Given the description of an element on the screen output the (x, y) to click on. 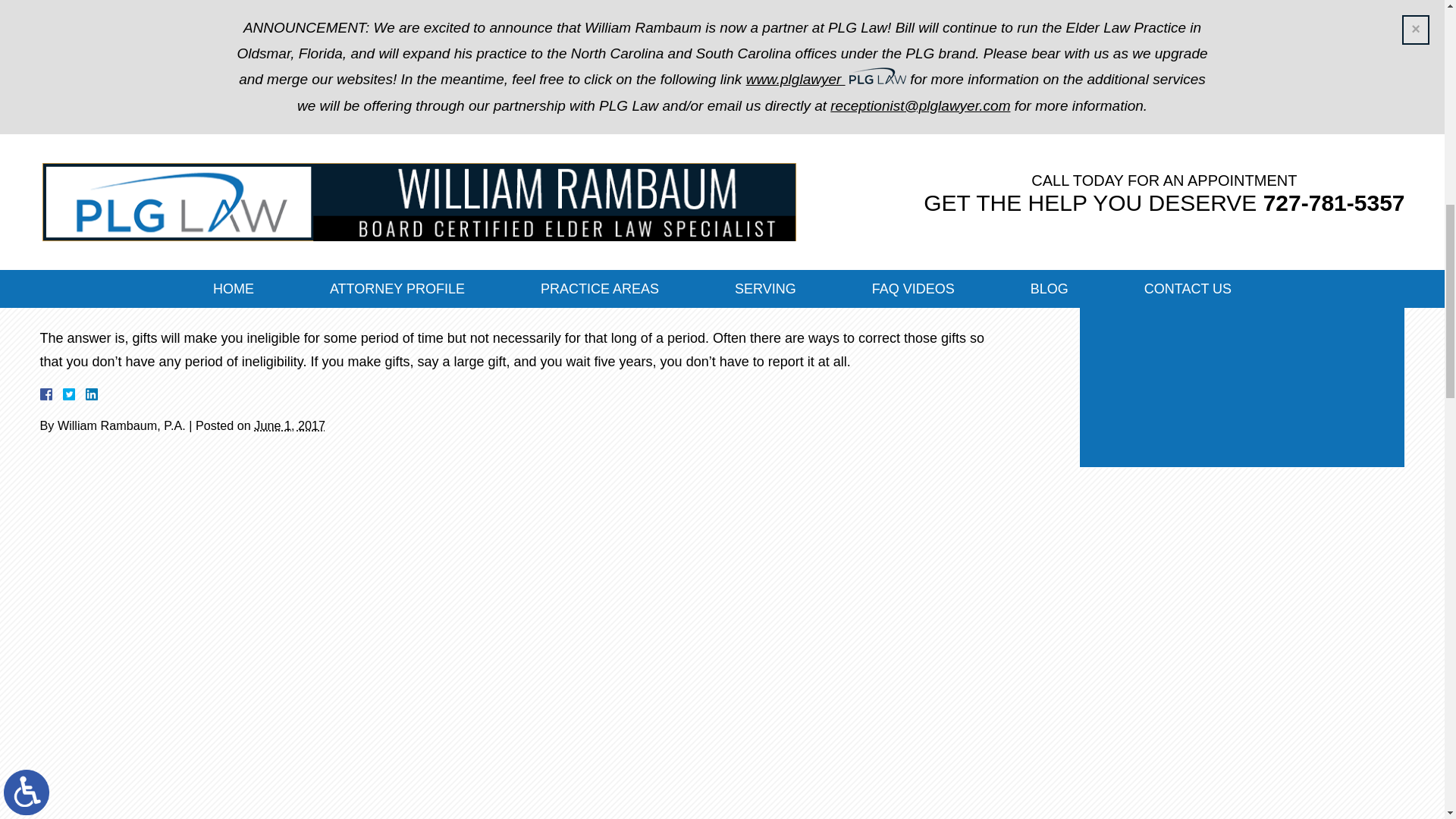
View More FAQ Videos (125, 171)
2017-06-01T12:22:05-0700 (288, 425)
